Given the description of an element on the screen output the (x, y) to click on. 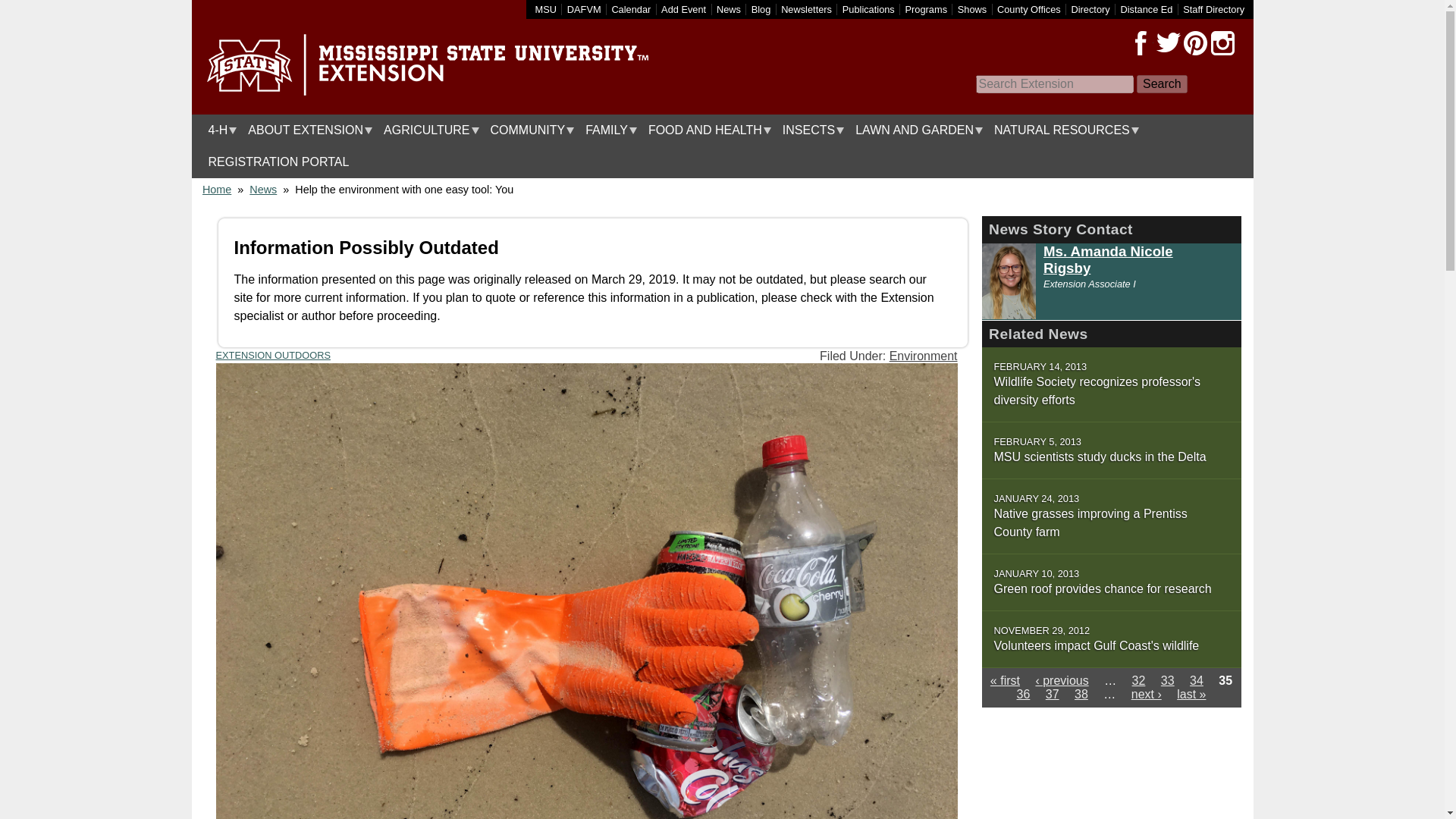
Link to Mississippi State University (545, 9)
DAFVM (584, 9)
Add Event (683, 9)
Directory of employees of the MSU Extension Service (1213, 9)
Shows (972, 9)
Directory (1089, 9)
Find a county extension office (1029, 9)
News (728, 9)
The main event calendar for the MSU Extension Service (630, 9)
Publications (869, 9)
Blog (761, 9)
Distance Ed (1145, 9)
